Given the description of an element on the screen output the (x, y) to click on. 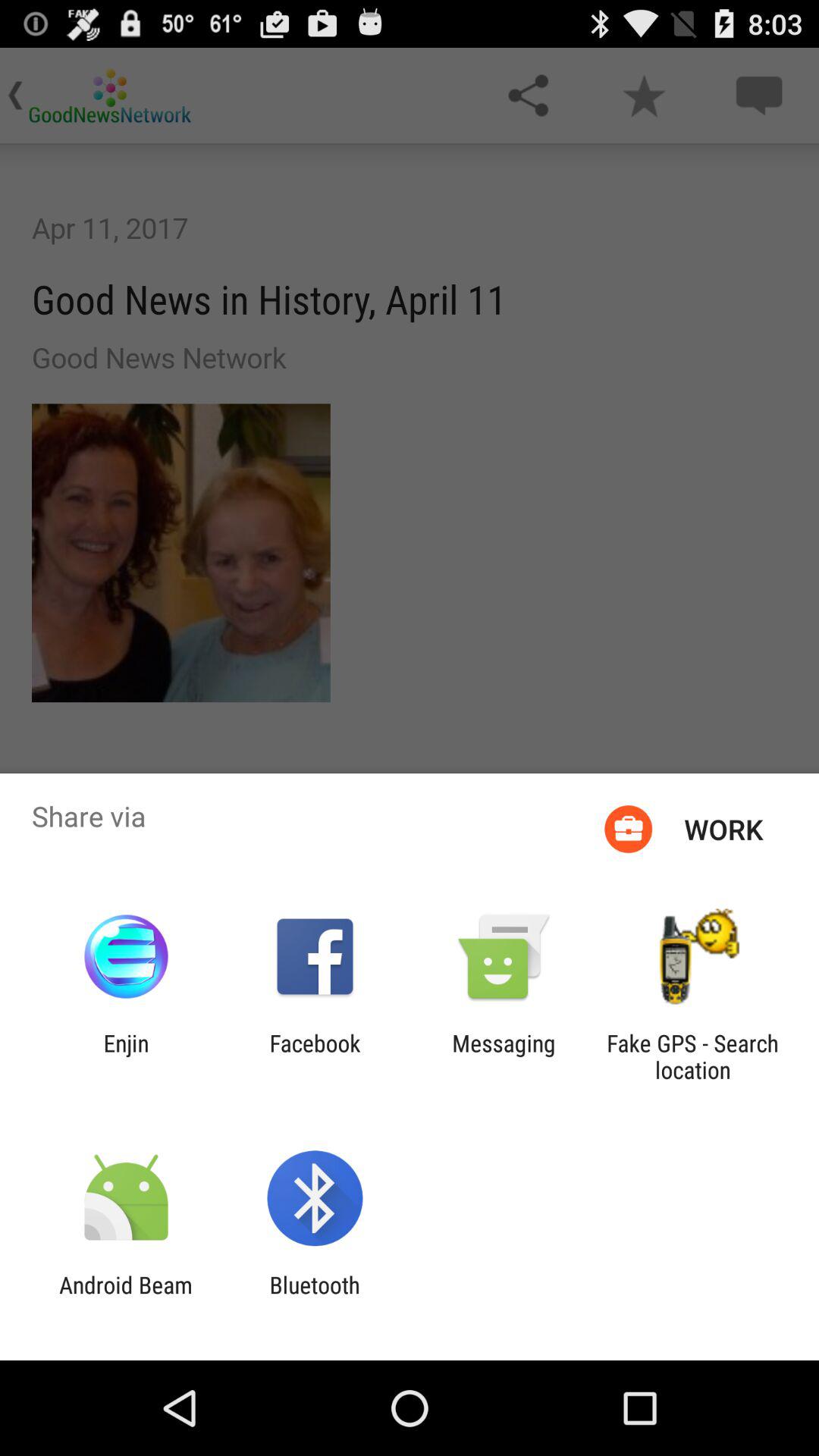
press the item next to the messaging item (692, 1056)
